Given the description of an element on the screen output the (x, y) to click on. 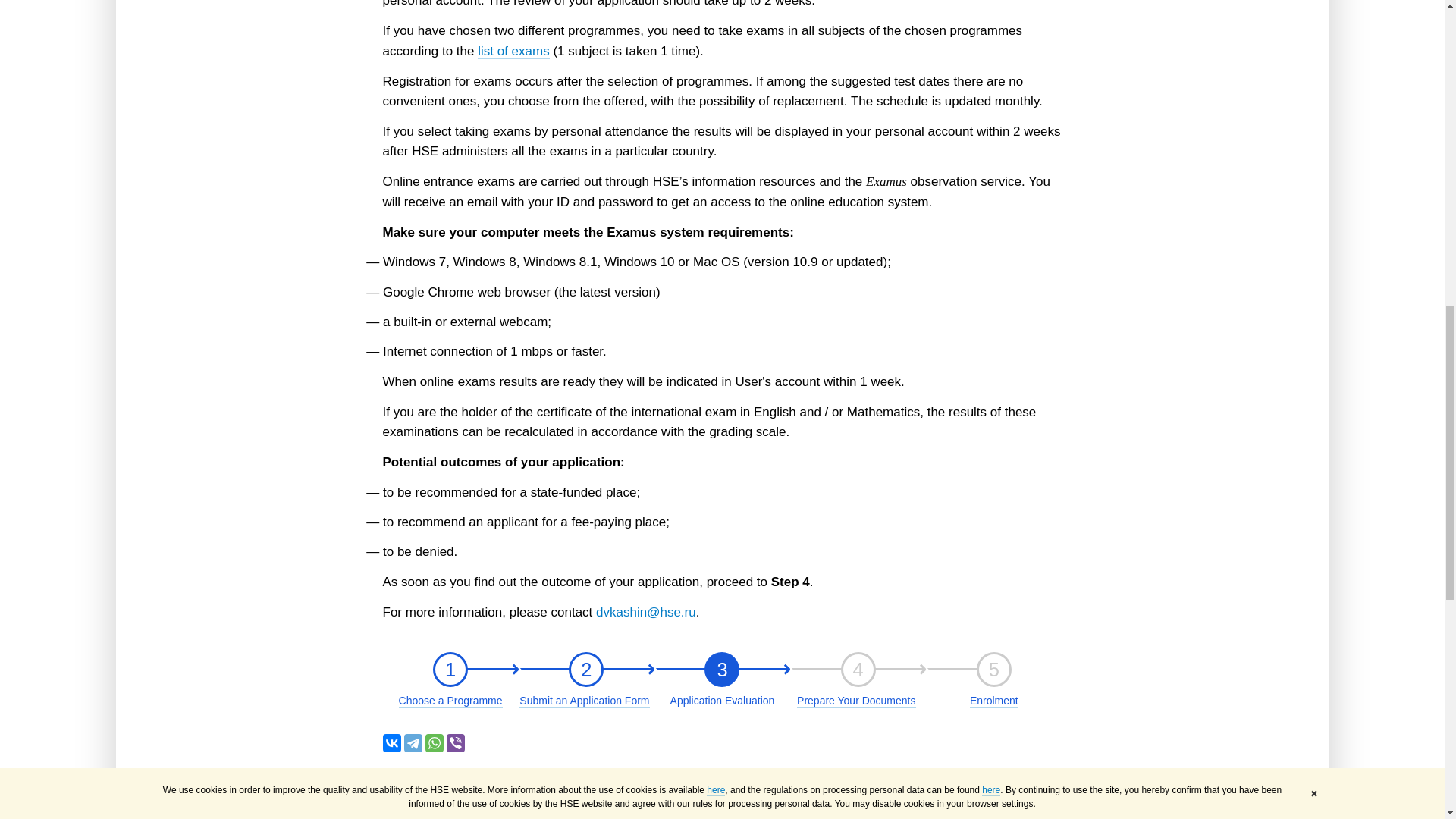
VKontakte (858, 670)
list of exams (390, 742)
Viber (512, 51)
WhatsApp (721, 670)
Telegram (449, 670)
